Given the description of an element on the screen output the (x, y) to click on. 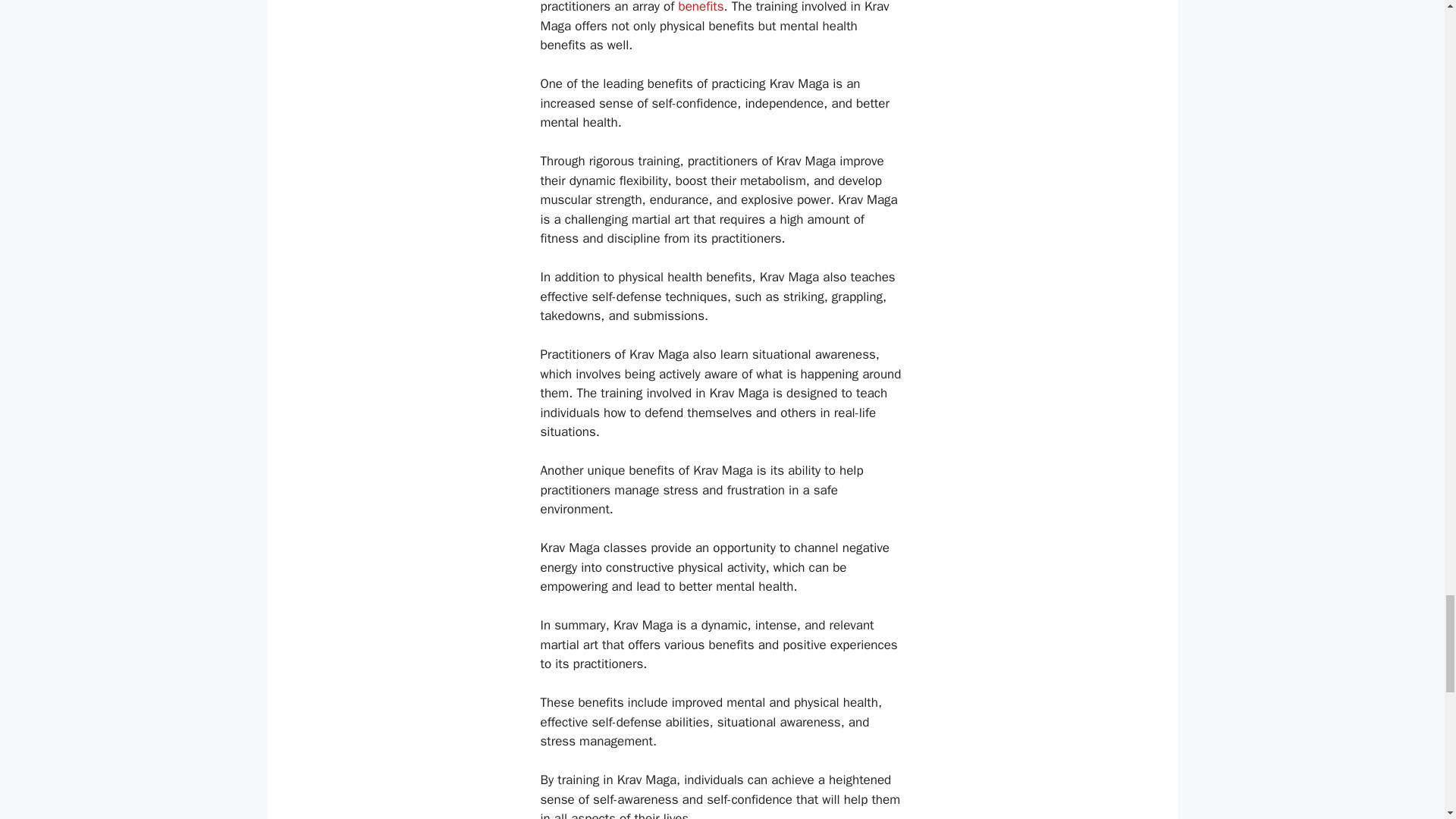
benefits (700, 7)
